Given the description of an element on the screen output the (x, y) to click on. 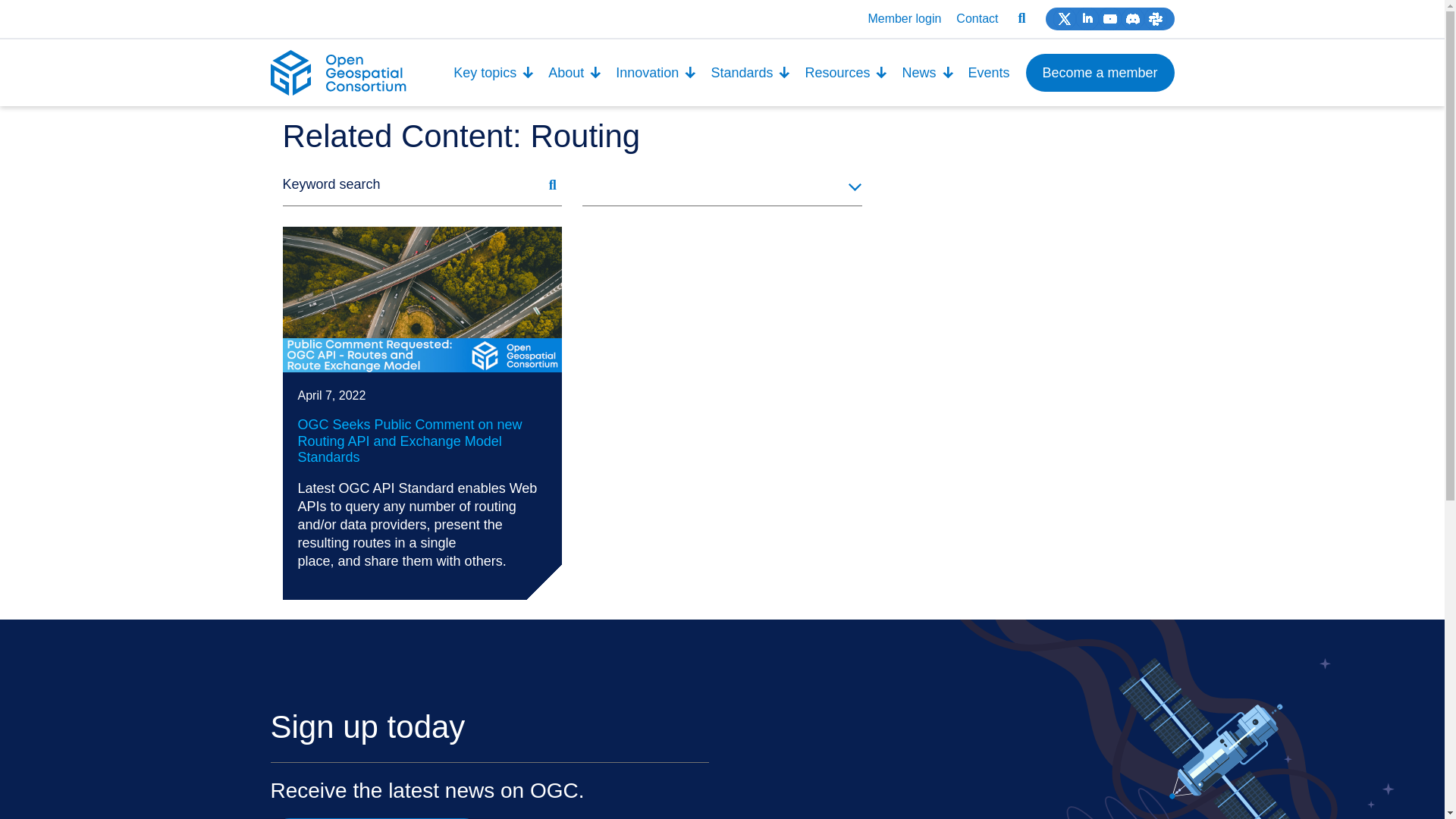
Contact (977, 18)
Key topics (493, 72)
Standards (750, 72)
Member login (904, 18)
About (574, 72)
Innovation (655, 72)
